Given the description of an element on the screen output the (x, y) to click on. 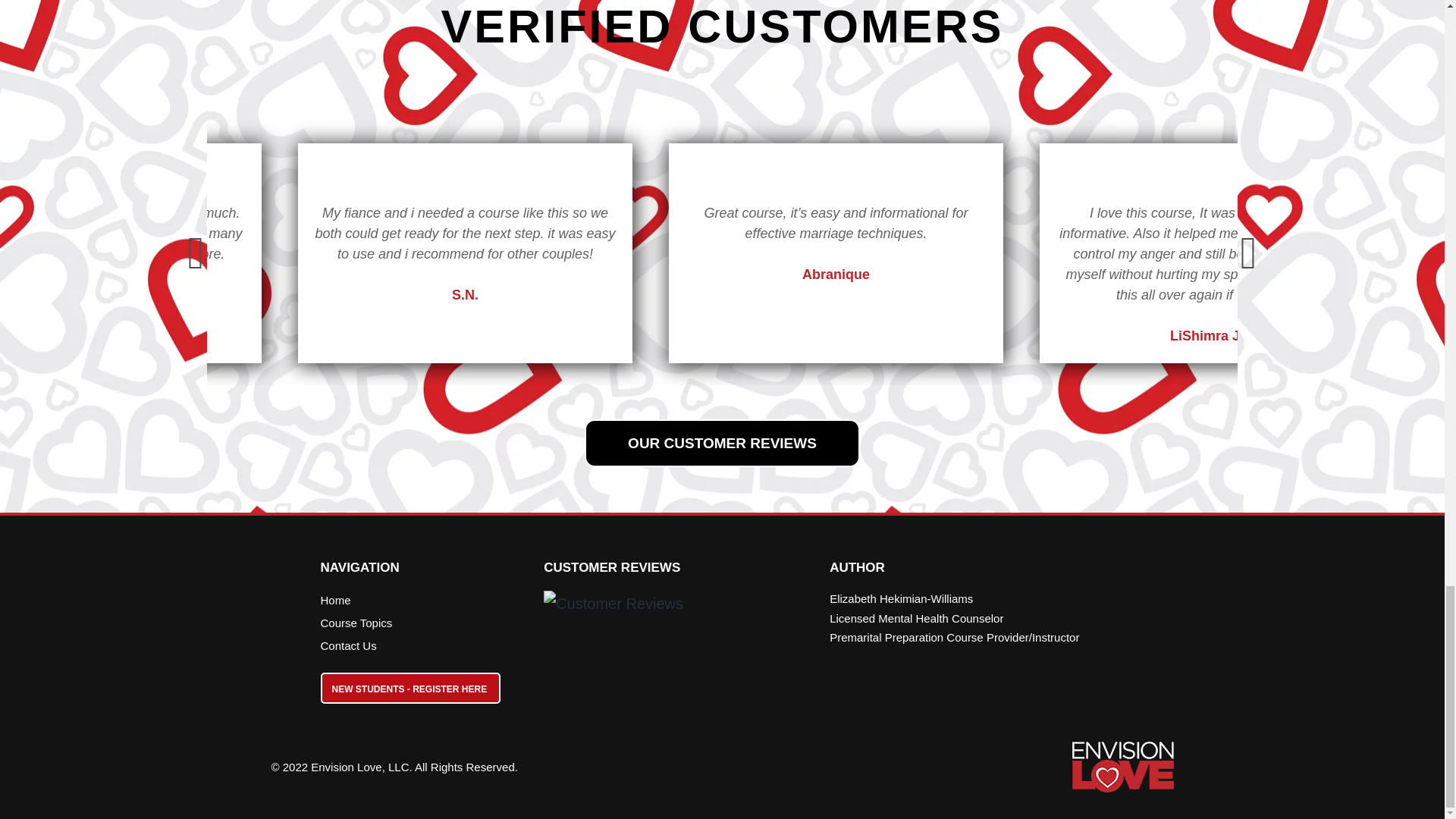
NEW STUDENTS - REGISTER HERE (410, 687)
OUR CUSTOMER REVIEWS (722, 442)
Course Topics (416, 622)
Home (416, 599)
Contact Us (416, 645)
